Given the description of an element on the screen output the (x, y) to click on. 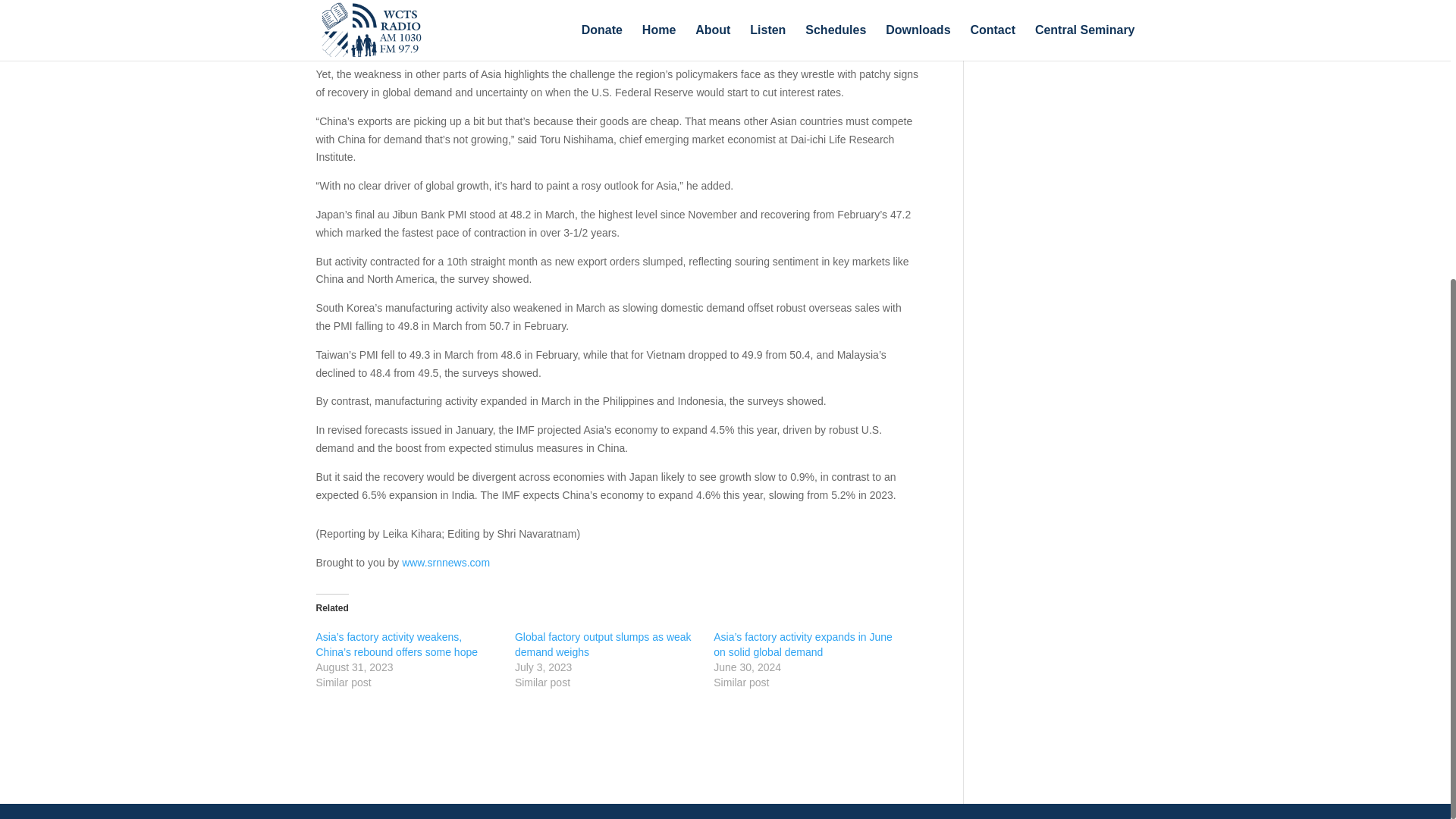
Global factory output slumps as weak demand weighs (603, 644)
Global factory output slumps as weak demand weighs (603, 644)
www.srnnews.com (445, 562)
